Given the description of an element on the screen output the (x, y) to click on. 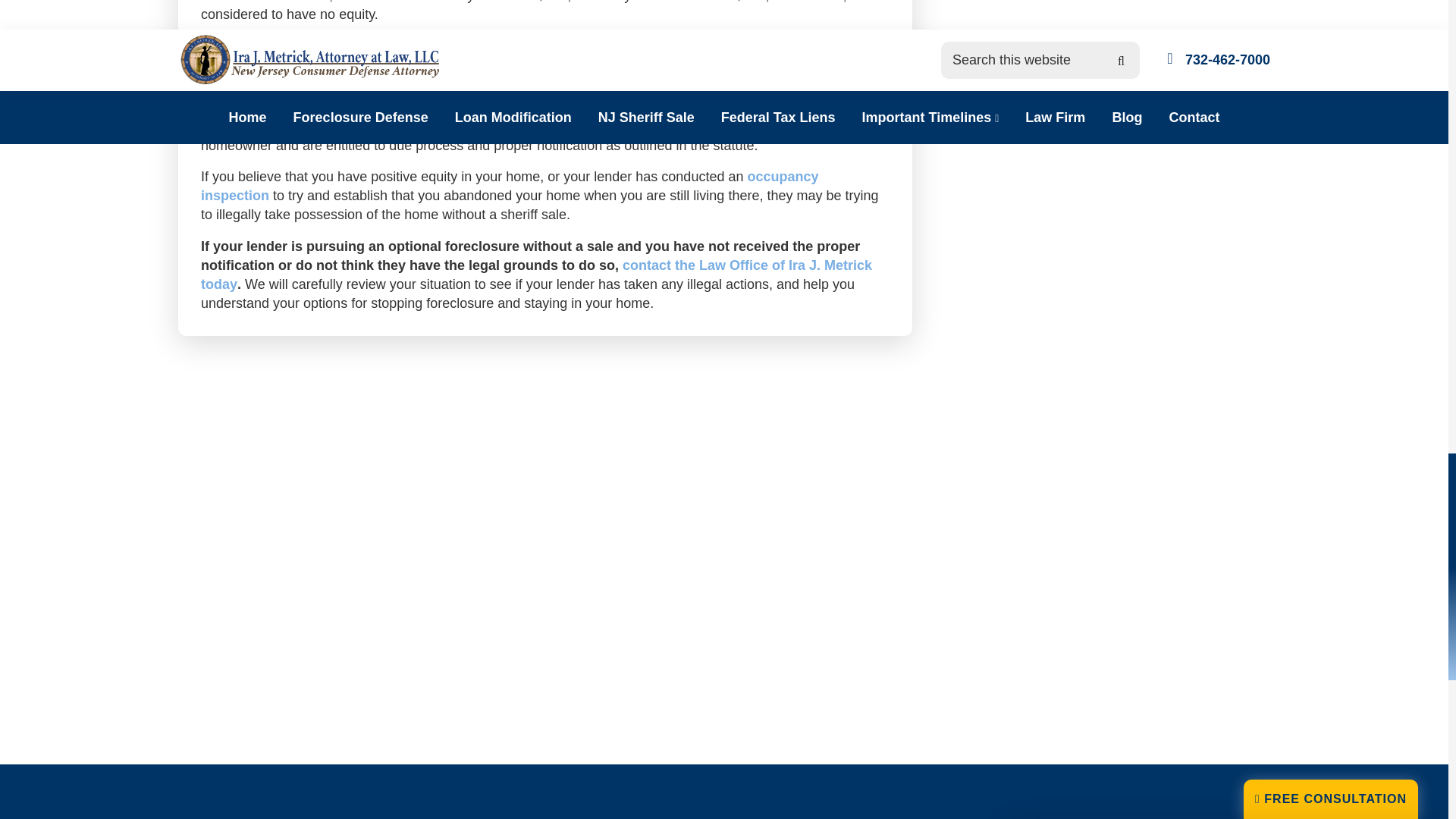
occupancy inspection (509, 185)
contact the Law Office of Ira J. Metrick today (536, 274)
